Given the description of an element on the screen output the (x, y) to click on. 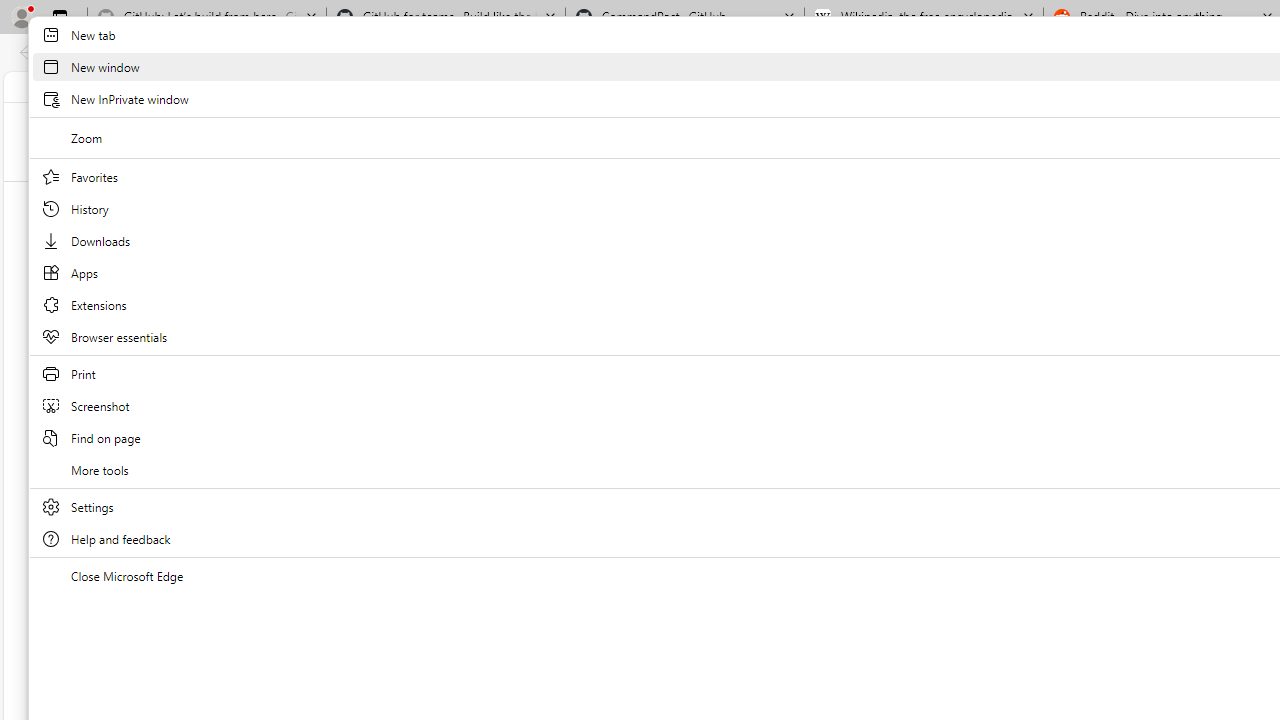
Sign in (675, 85)
Shop by category (805, 140)
Collectibles and ArtExpand: Collectibles and Art (1126, 199)
Daily Deals (817, 85)
SportsExpand: Sports (1231, 199)
eBay Home (694, 139)
Collectibles and Art (1126, 198)
Fashion (1019, 198)
MotorsExpand: Motors (950, 199)
register (735, 85)
FashionExpand: Fashion (1019, 199)
Sports (1230, 198)
